Given the description of an element on the screen output the (x, y) to click on. 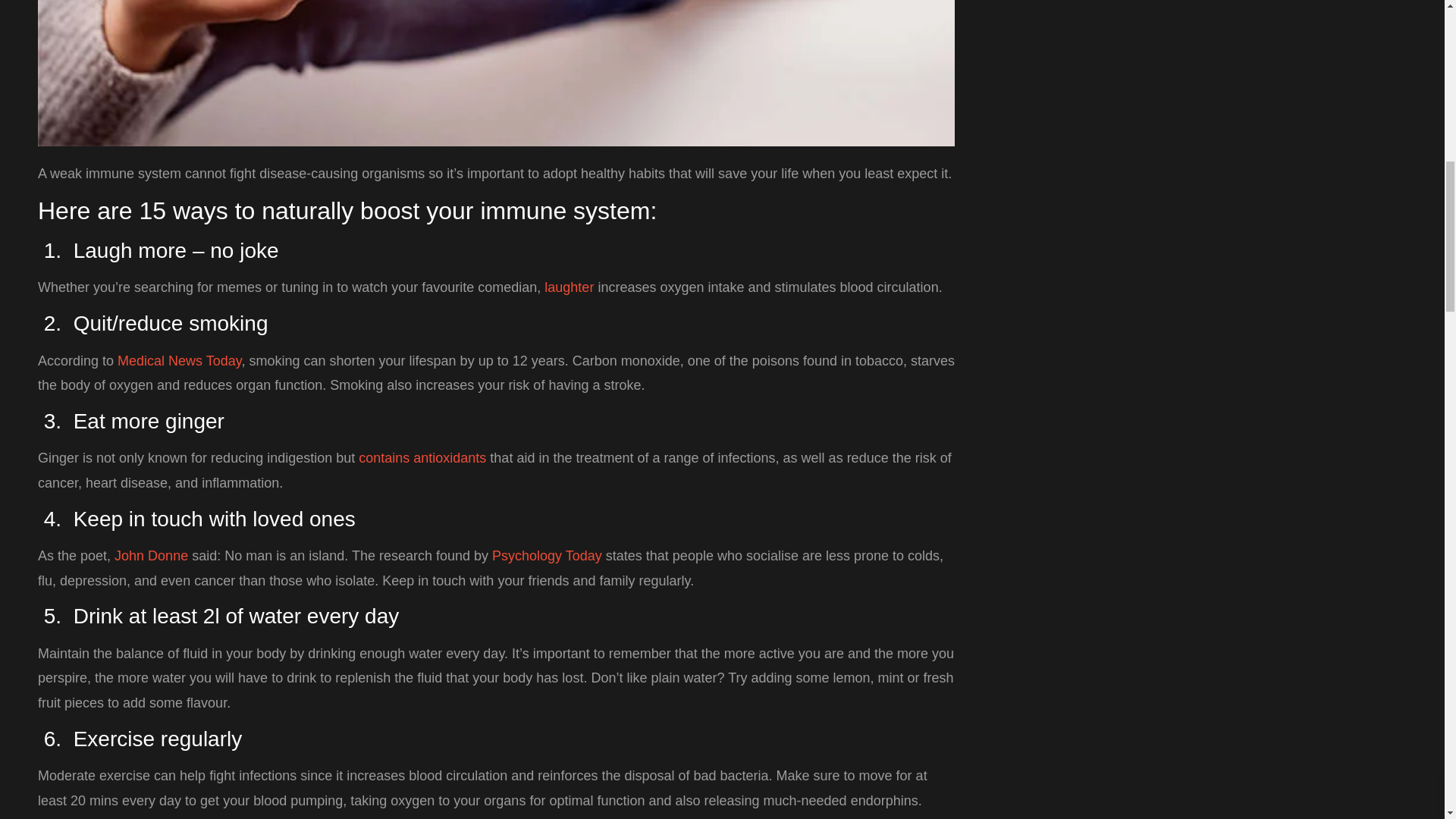
laughter (569, 287)
Medical News Today (179, 360)
contains antioxidants (422, 458)
John Donne (151, 555)
Psychology Today (547, 555)
